Given the description of an element on the screen output the (x, y) to click on. 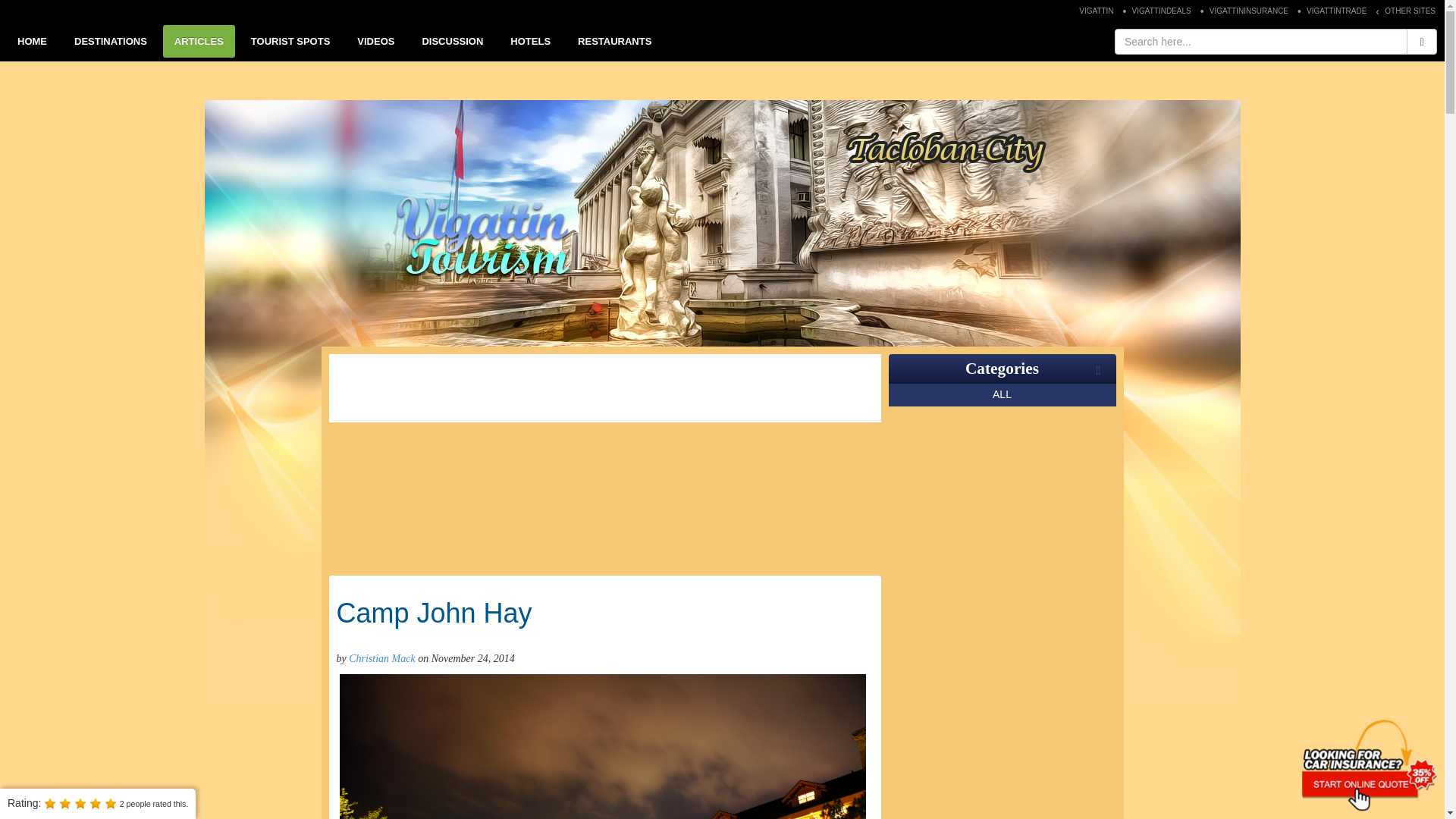
HOME (31, 41)
Tourism Videos (376, 41)
OTHER SITES (1409, 11)
TOURIST SPOTS (291, 41)
VIGATTIN (1096, 11)
Tourism Hotels (530, 41)
DESTINATIONS (110, 41)
Categories (1002, 368)
Tourism Tourist Spots (291, 41)
Tourism Discussion (452, 41)
VIGATTINTRADE (1336, 11)
Tourism Home (31, 41)
DISCUSSION (452, 41)
Tourism Restaurants (614, 41)
VIGATTININSURANCE (1248, 11)
